Given the description of an element on the screen output the (x, y) to click on. 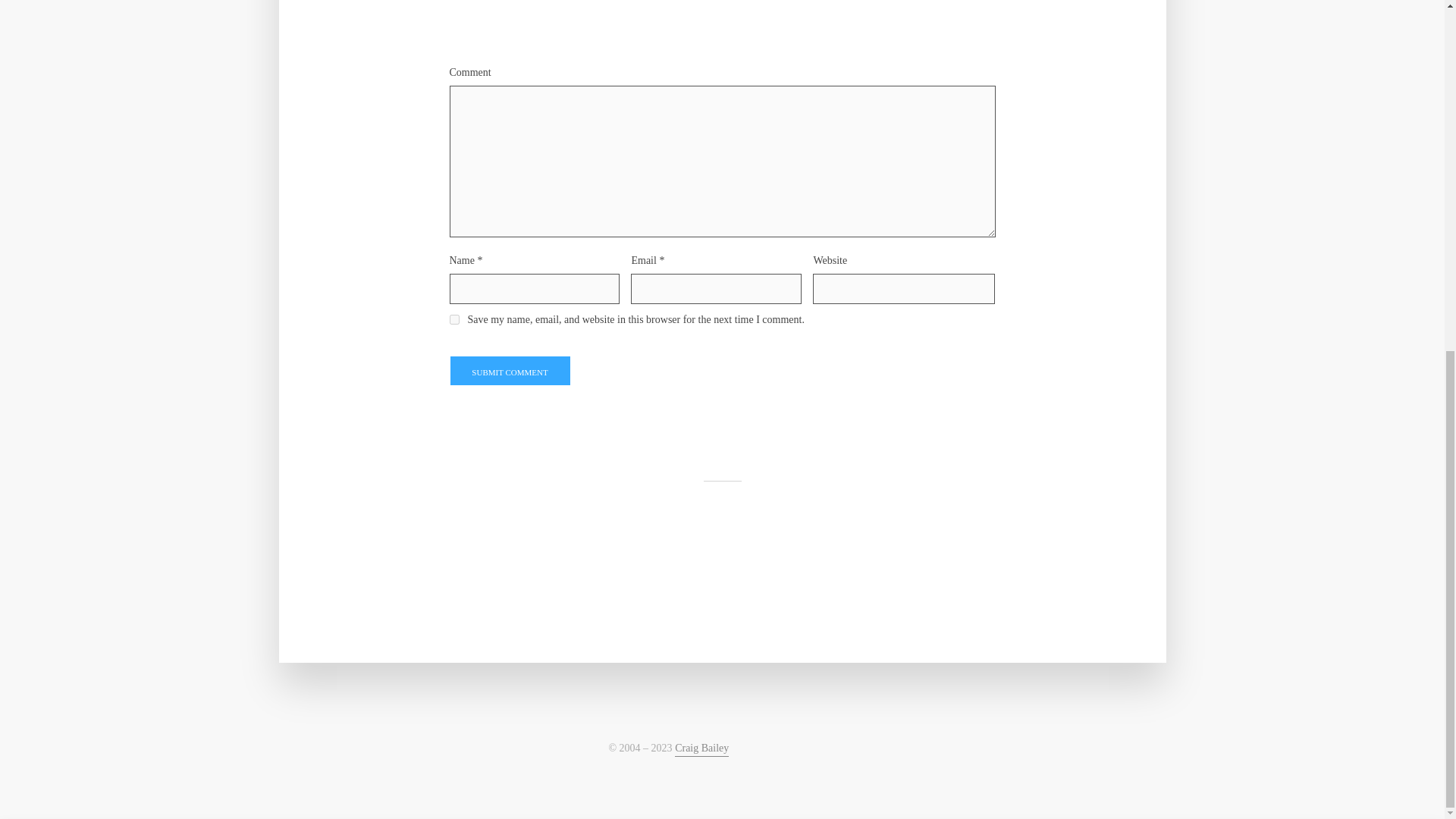
Submit Comment (509, 370)
Craig Bailey (702, 749)
yes (453, 319)
Submit Comment (509, 370)
